Given the description of an element on the screen output the (x, y) to click on. 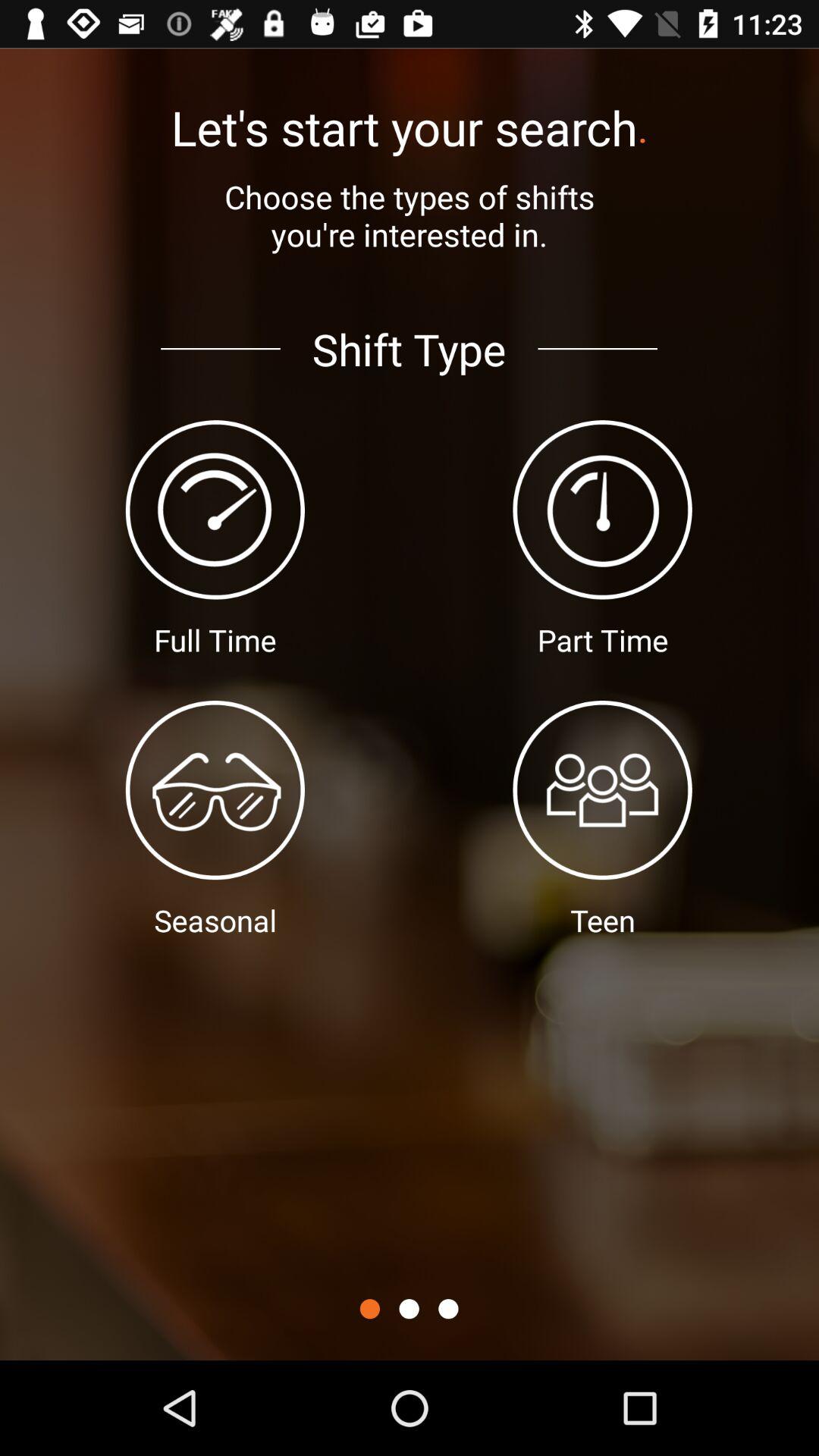
choose the item below shift type item (409, 1308)
